Given the description of an element on the screen output the (x, y) to click on. 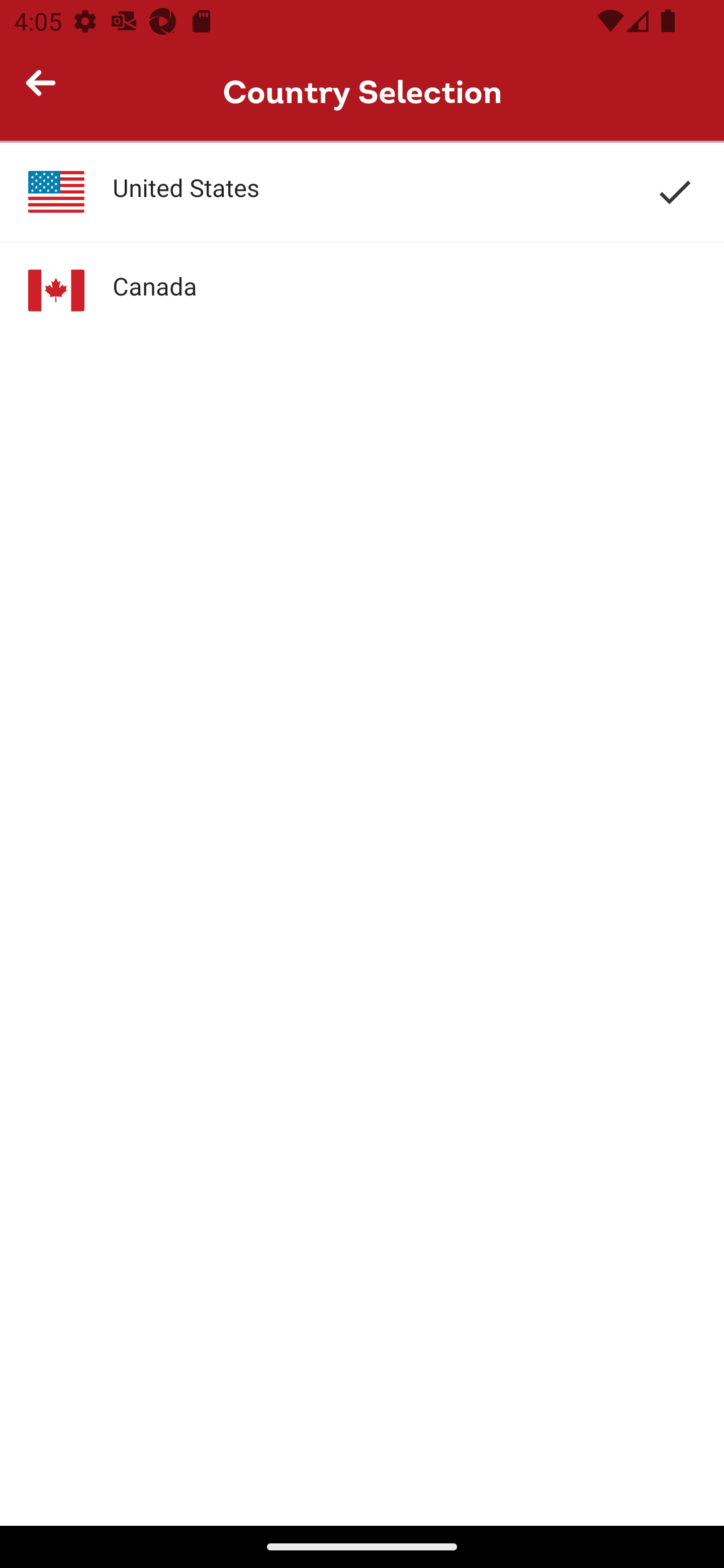
Back (49, 91)
United States (362, 191)
Canada (362, 290)
